Given the description of an element on the screen output the (x, y) to click on. 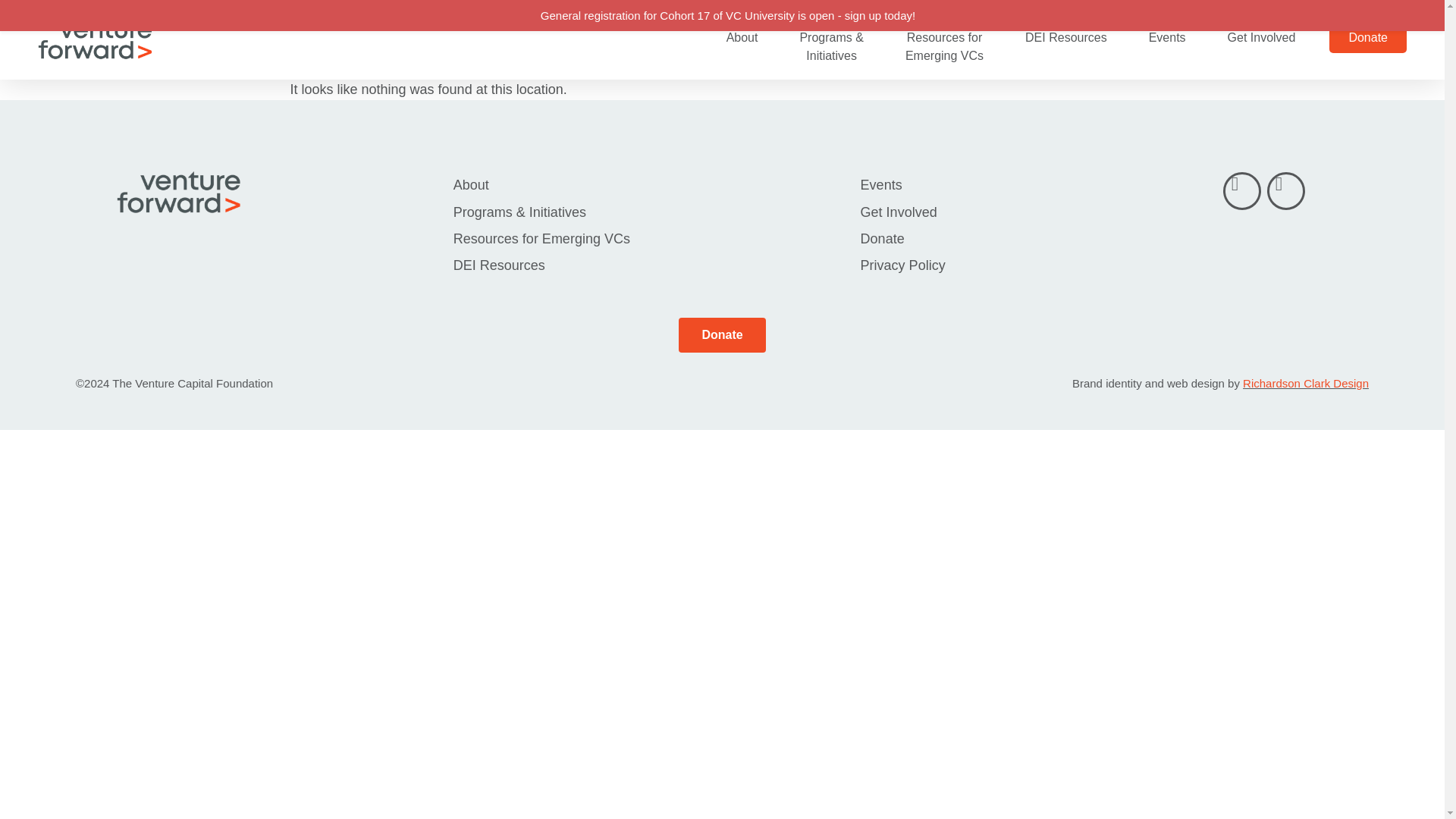
About (742, 37)
Donate (1367, 37)
DEI Resources (1066, 37)
Events (1167, 37)
Get Involved (1261, 37)
